Given the description of an element on the screen output the (x, y) to click on. 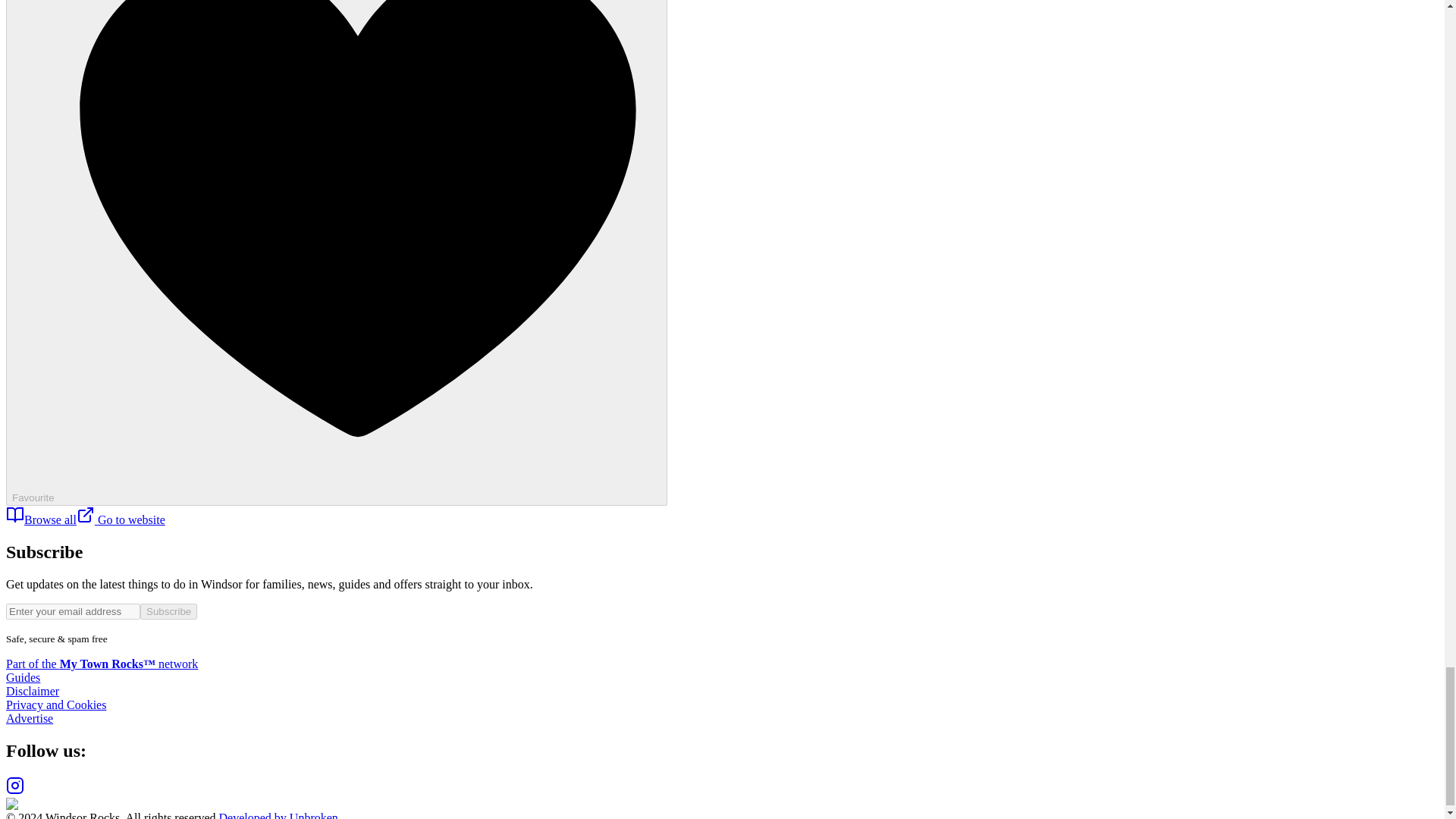
Go to website (121, 519)
Browse all (41, 519)
Subscribe (167, 611)
